Given the description of an element on the screen output the (x, y) to click on. 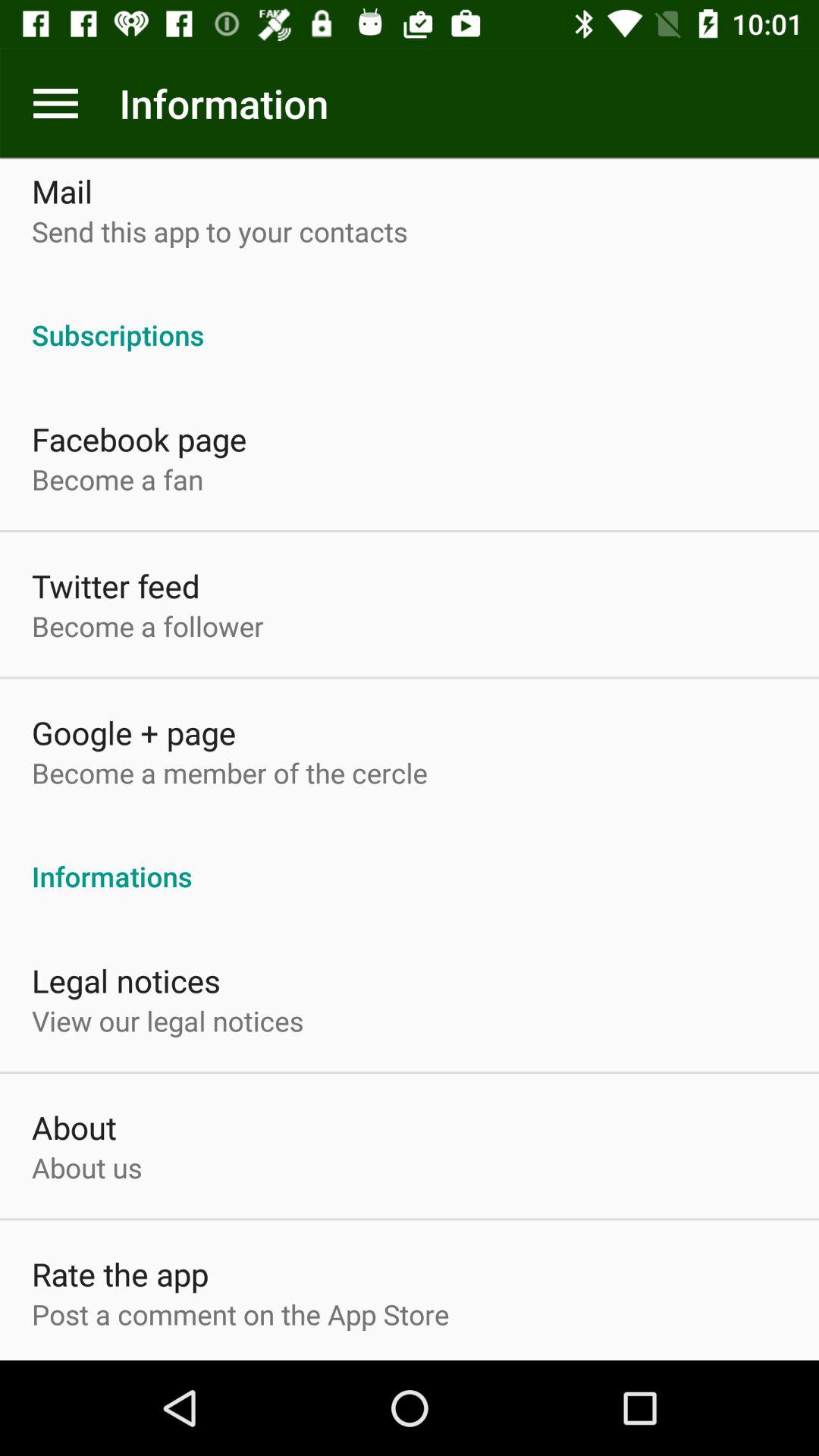
launch the icon above facebook page icon (409, 318)
